Given the description of an element on the screen output the (x, y) to click on. 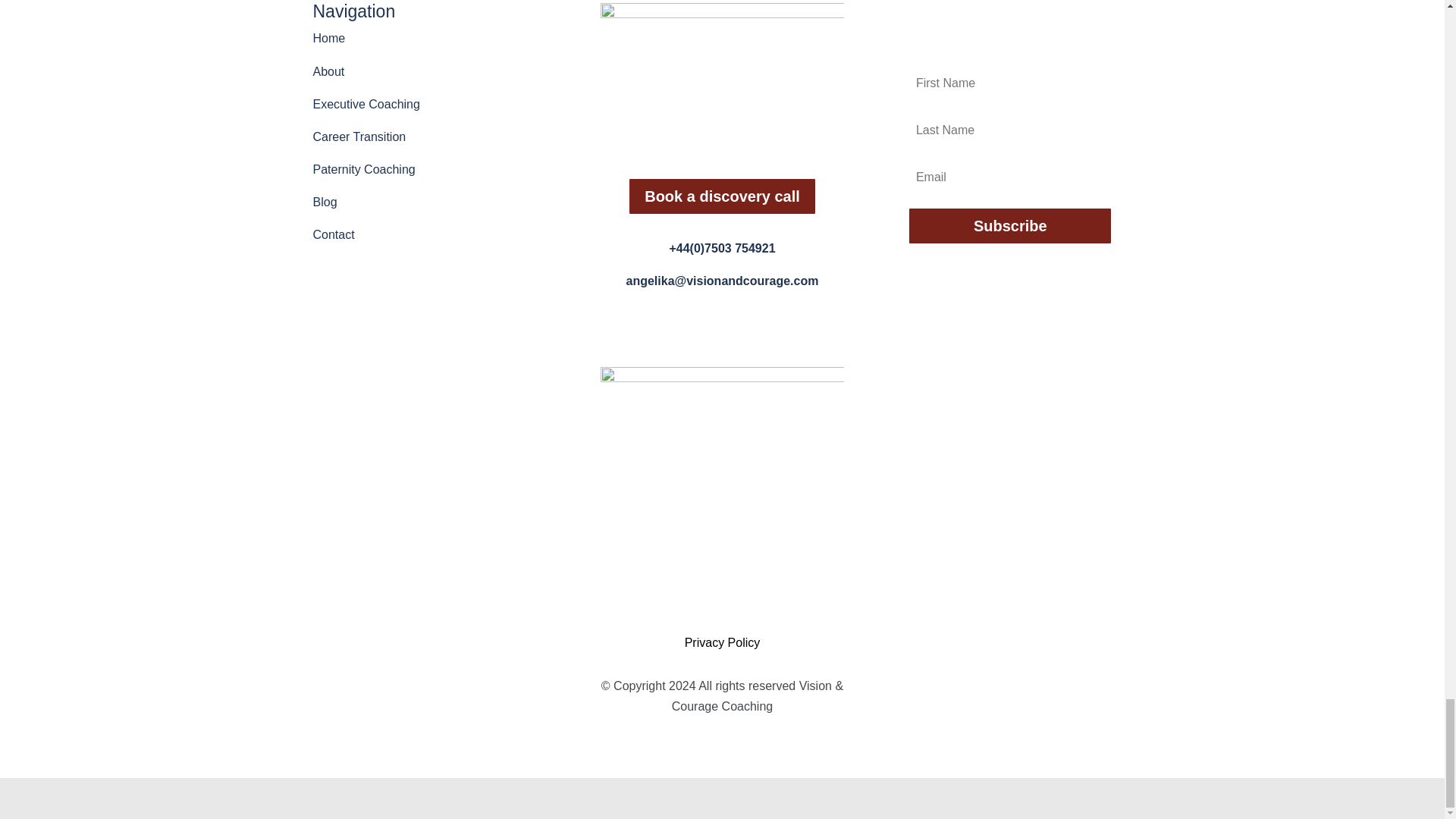
07503 754921 (721, 247)
About (328, 71)
Follow on LinkedIn (706, 325)
Career Transition (359, 136)
Executive Coaching (366, 103)
VCC- PCC Logo - Website (721, 487)
Paternity Coaching (363, 169)
Blog (324, 201)
VC Main Logo Full Colour (721, 78)
Follow on Instagram (737, 325)
